Given the description of an element on the screen output the (x, y) to click on. 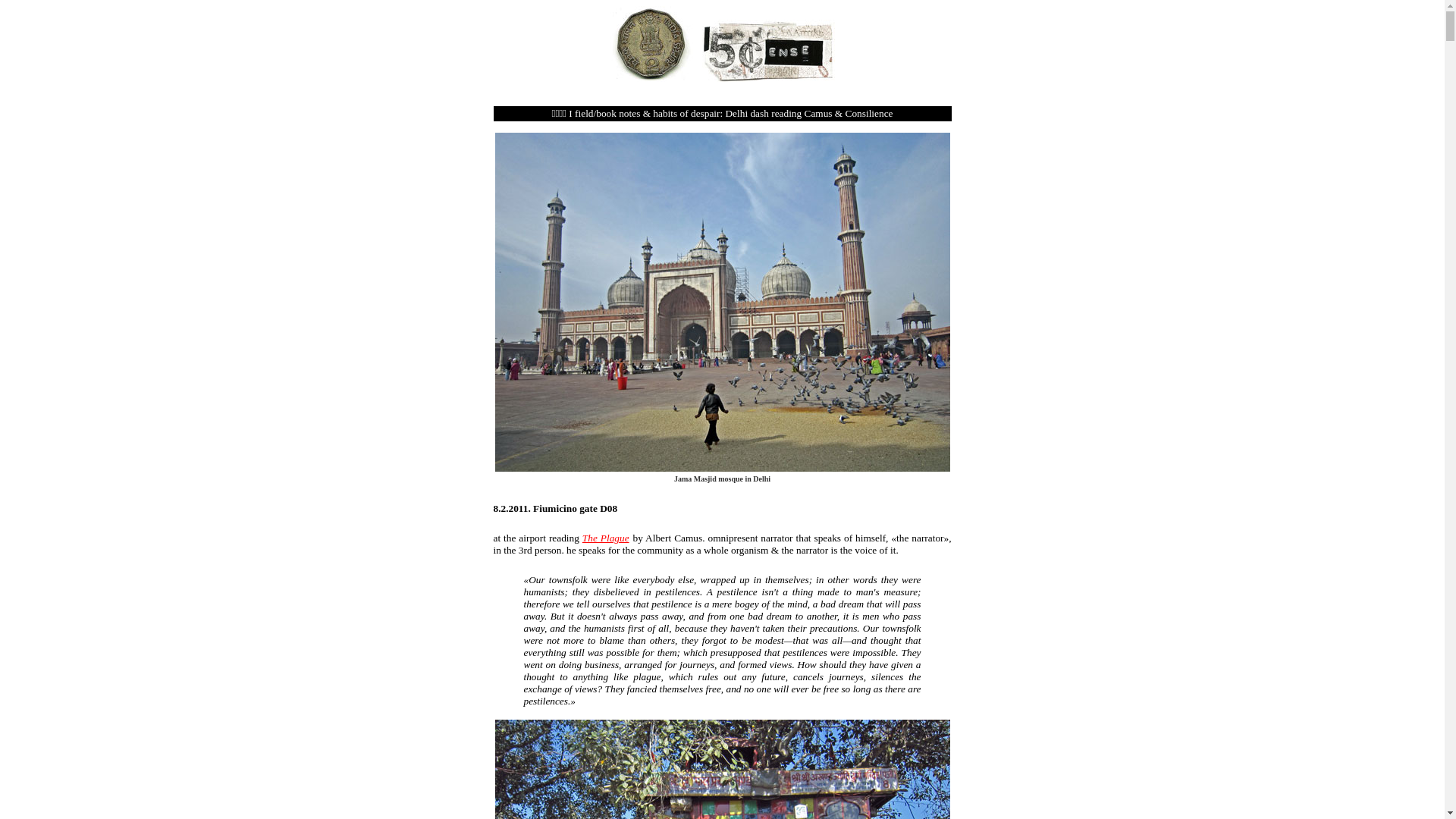
The Plague (605, 537)
